Given the description of an element on the screen output the (x, y) to click on. 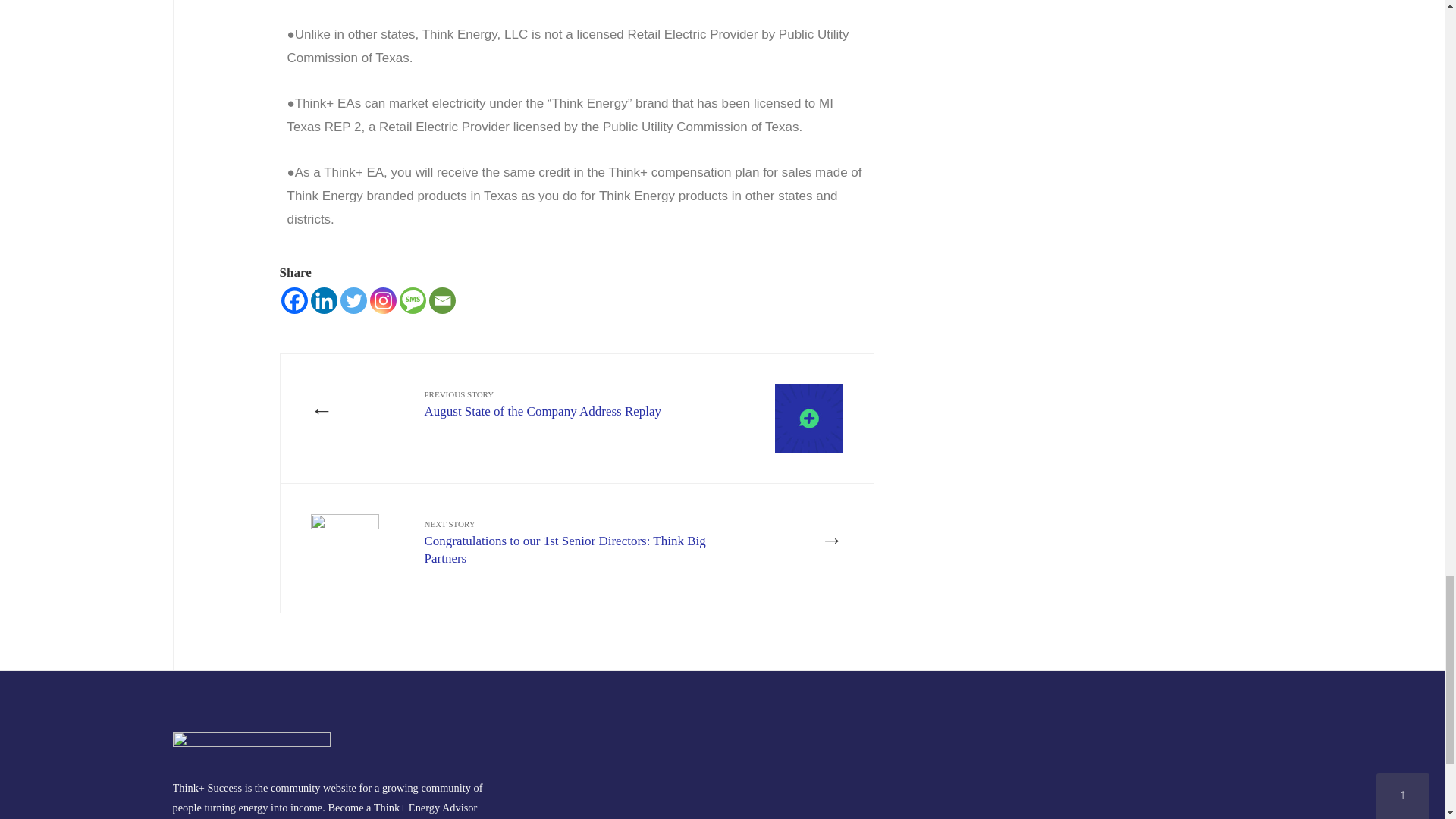
Linkedin (324, 300)
Instagram (382, 300)
Facebook (294, 300)
Email (442, 300)
Twitter (352, 300)
SMS (577, 402)
